Given the description of an element on the screen output the (x, y) to click on. 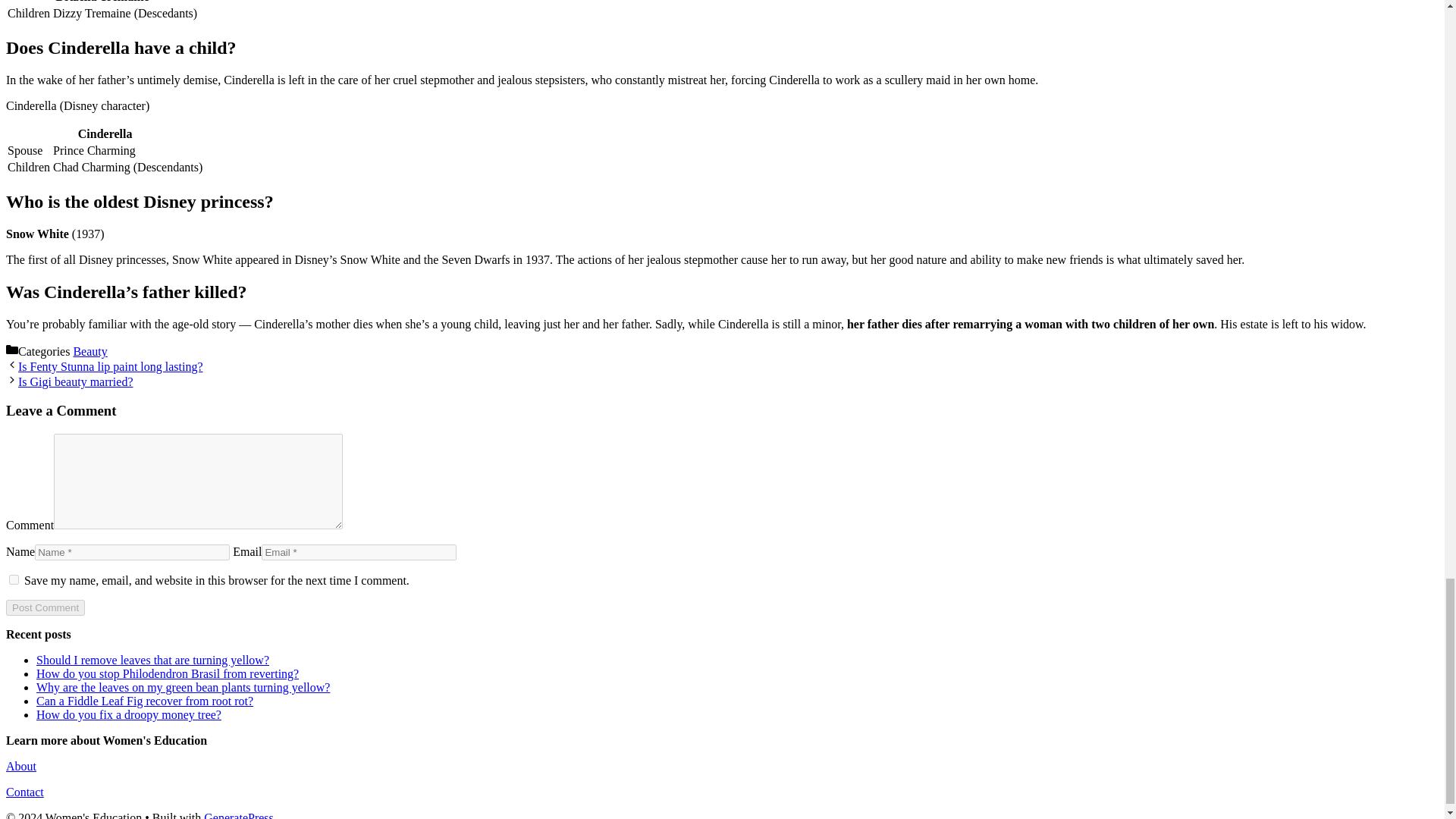
yes (13, 579)
Post Comment (44, 607)
